Given the description of an element on the screen output the (x, y) to click on. 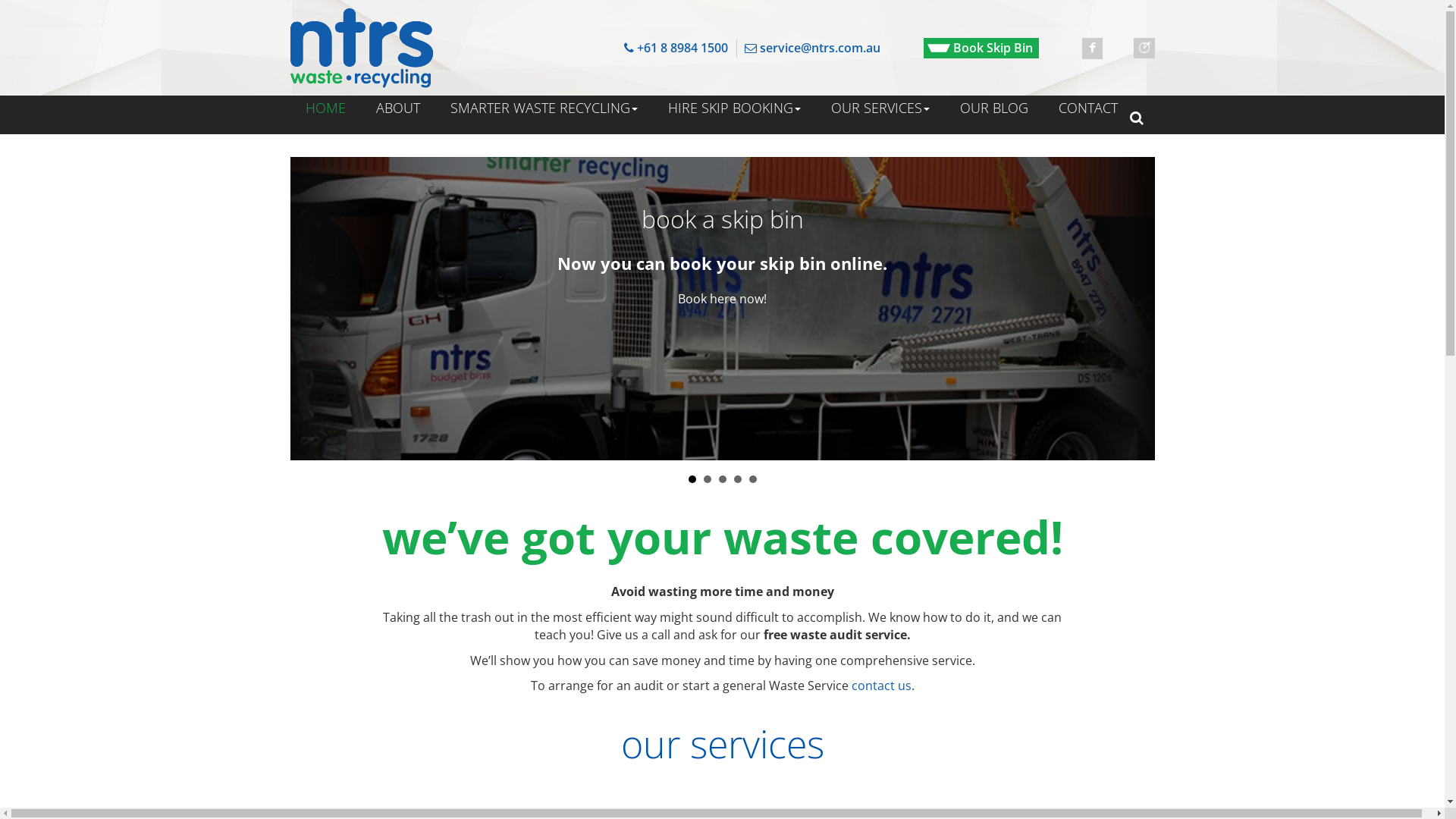
3 Element type: text (722, 479)
5 Element type: text (752, 479)
+61 8 8984 1500 Element type: text (675, 48)
HOME Element type: text (324, 107)
Book here now! Element type: text (721, 298)
1 Element type: text (692, 479)
Facebook Element type: hover (1092, 48)
ABOUT Element type: text (397, 107)
2 Element type: text (707, 479)
contact us Element type: text (880, 685)
our services Element type: text (721, 743)
SMARTER WASTE RECYCLING Element type: text (543, 107)
HIRE SKIP BOOKING Element type: text (733, 107)
Book Skip Bin Element type: text (980, 47)
OUR BLOG Element type: text (993, 107)
CONTACT Element type: text (1087, 107)
OUR SERVICES Element type: text (879, 107)
service@ntrs.com.au Element type: text (812, 48)
TimeTarget Element type: hover (1143, 47)
ntrs Element type: hover (361, 47)
4 Element type: text (737, 479)
